Given the description of an element on the screen output the (x, y) to click on. 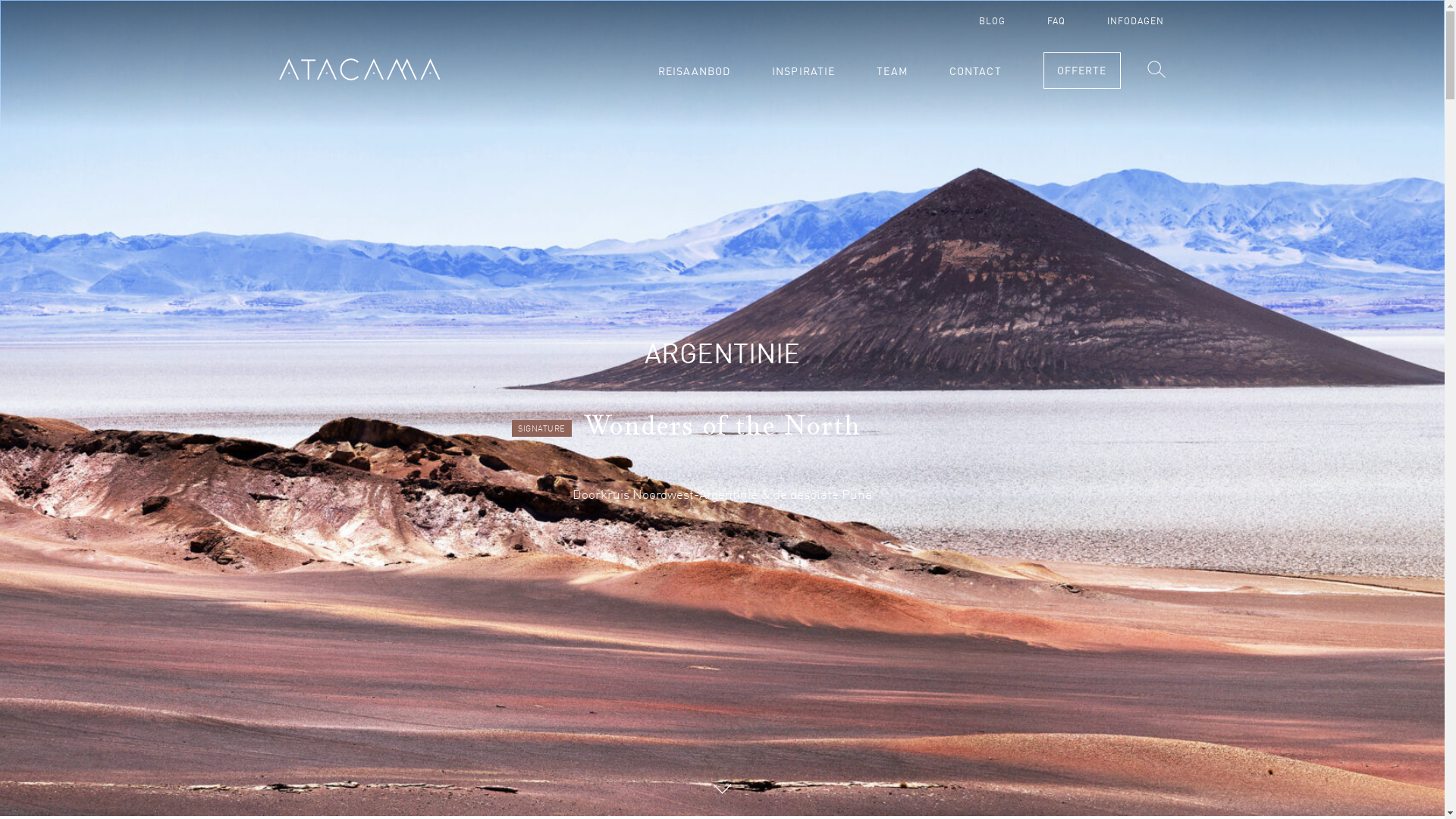
TEAM Element type: text (891, 71)
OFFERTE Element type: text (1081, 70)
INFODAGEN Element type: text (1135, 21)
INSPIRATIE Element type: text (803, 71)
FAQ Element type: text (1055, 21)
BLOG Element type: text (991, 21)
CONTACT Element type: text (975, 71)
REISAANBOD Element type: text (693, 71)
